Given the description of an element on the screen output the (x, y) to click on. 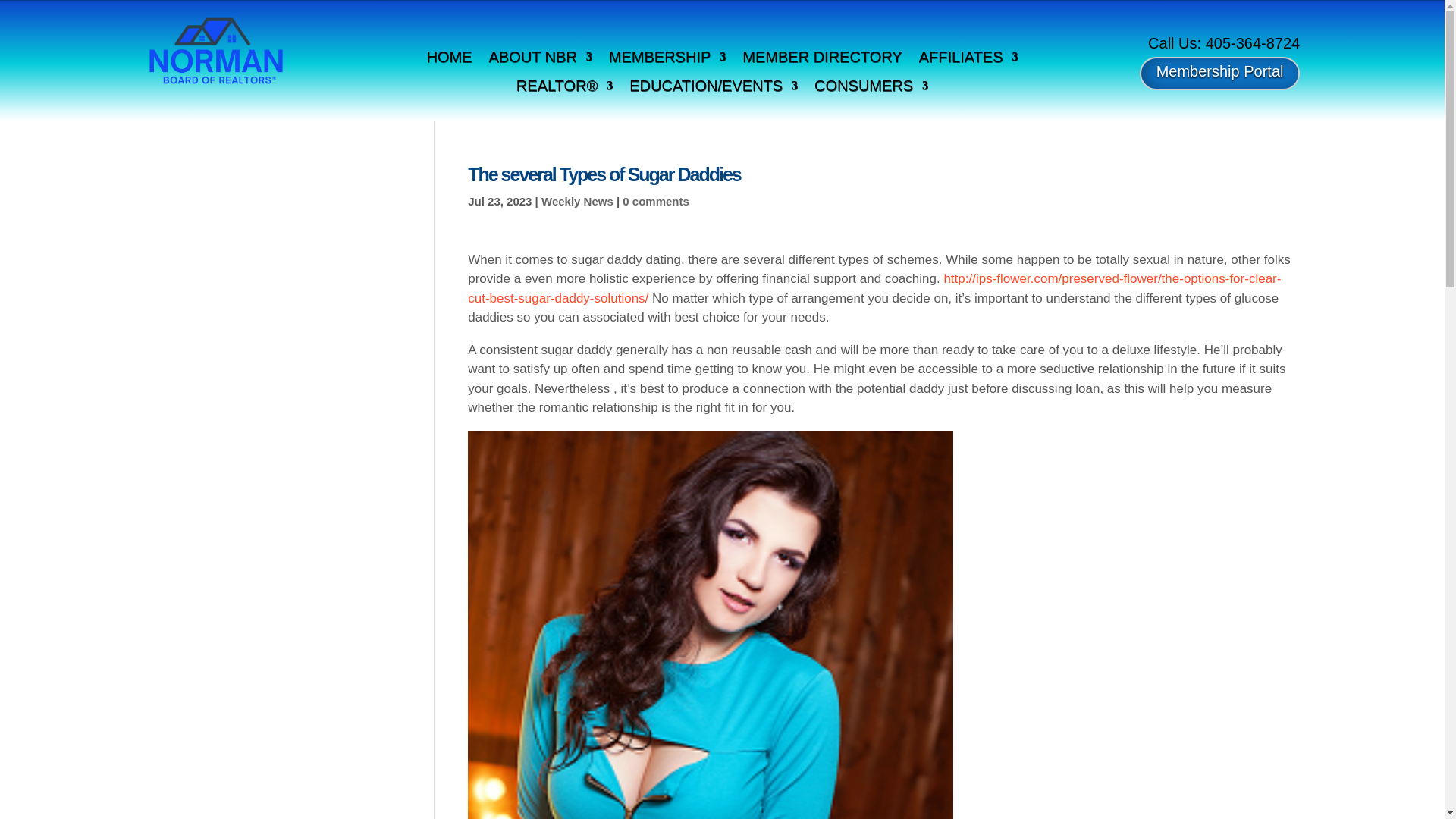
CONSUMERS (870, 87)
MEMBERSHIP (666, 59)
NBR LOGO 22 (215, 50)
ABOUT NBR (539, 59)
AFFILIATES (967, 59)
HOME (448, 59)
MEMBER DIRECTORY (821, 59)
